Given the description of an element on the screen output the (x, y) to click on. 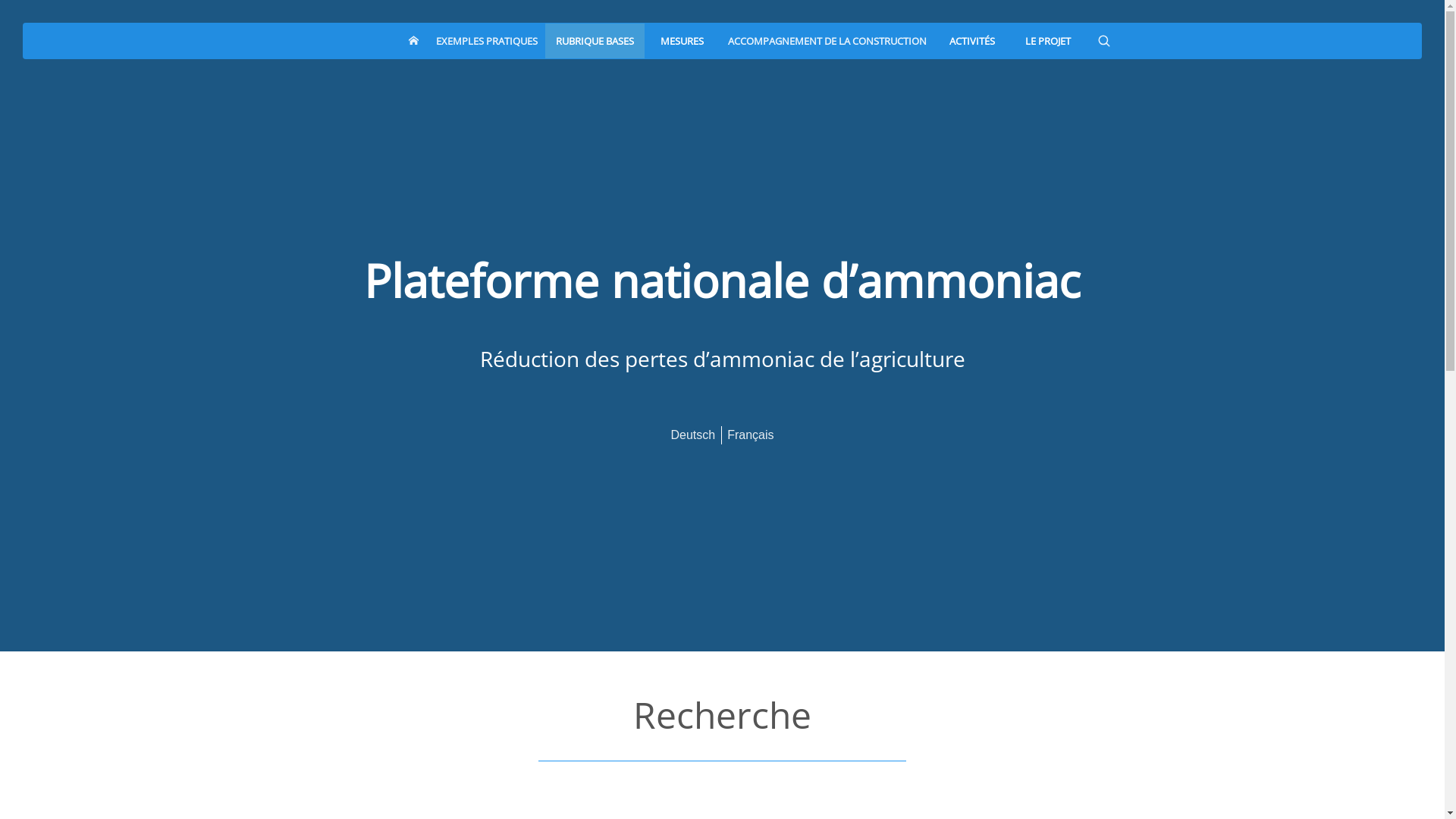
ACCOMPAGNEMENT DE LA CONSTRUCTION Element type: text (827, 40)
Deutsch Element type: text (692, 433)
EXEMPLES PRATIQUES Element type: text (485, 40)
Suchen Element type: text (1166, 40)
